Given the description of an element on the screen output the (x, y) to click on. 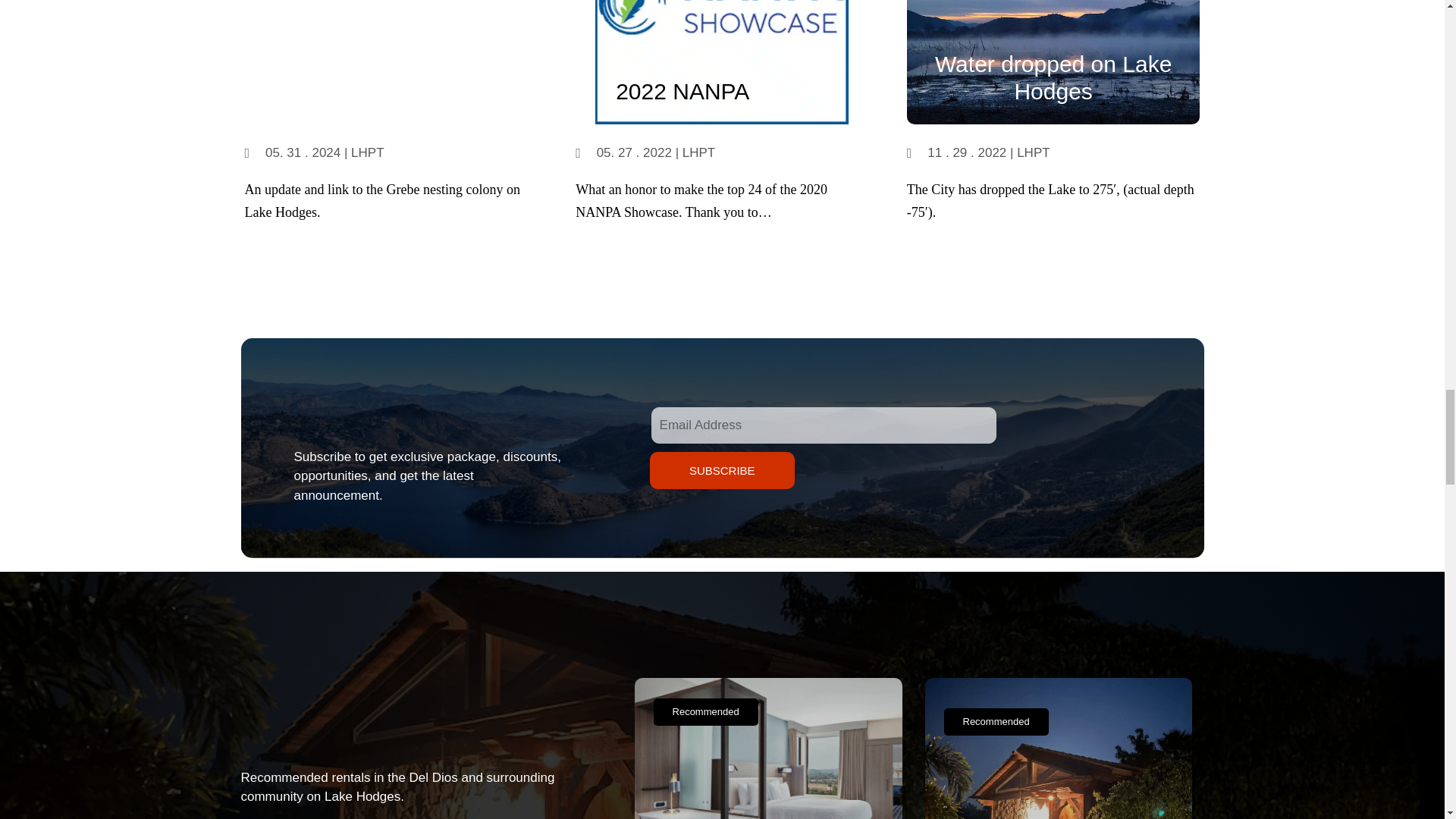
Recommended (995, 721)
Water dropped on Lake Hodges (1053, 77)
SUBSCRIBE (721, 470)
Grebe Nesting Colonies Update (384, 77)
Recommended (705, 711)
2022 NANPA (682, 91)
